Given the description of an element on the screen output the (x, y) to click on. 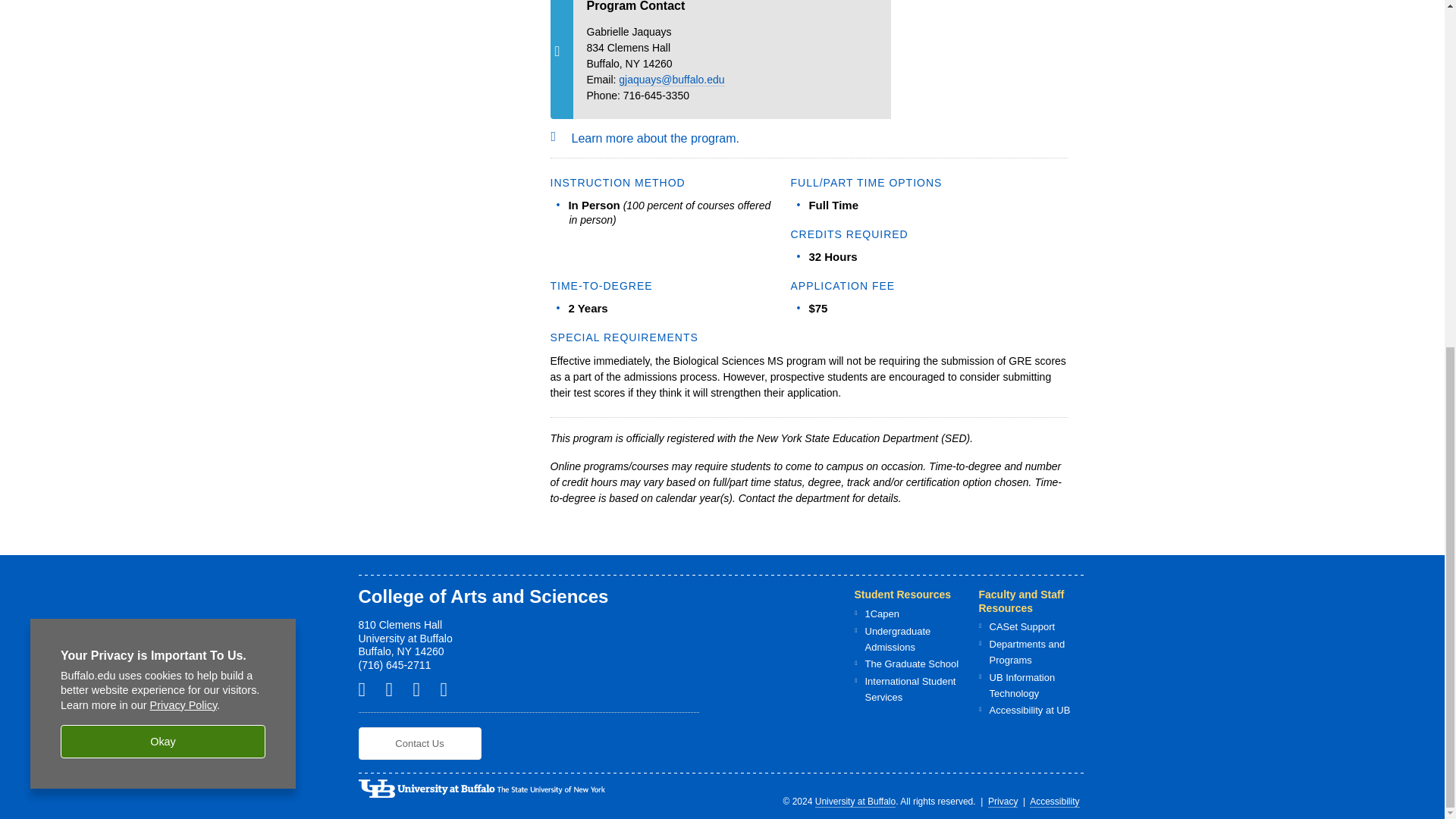
Follow the College on X (394, 689)
Follow the College on Youtube (449, 689)
Follow the College on Facebook (367, 689)
Follow the College on Instagram (422, 689)
